Given the description of an element on the screen output the (x, y) to click on. 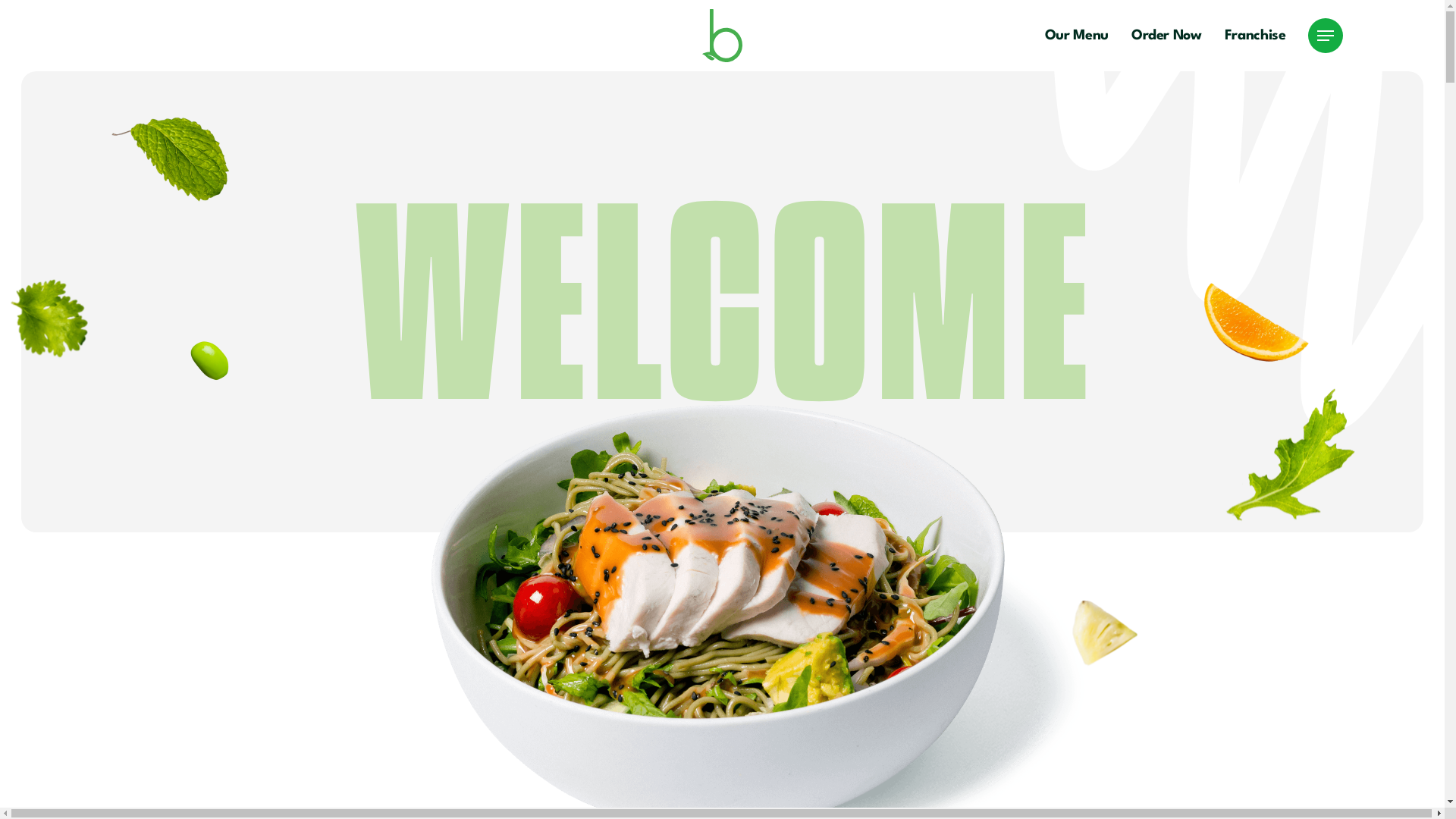
Order Now Element type: text (1166, 35)
Franchise Element type: text (1255, 35)
Menu Element type: text (1325, 35)
Our Menu Element type: text (1076, 35)
